Given the description of an element on the screen output the (x, y) to click on. 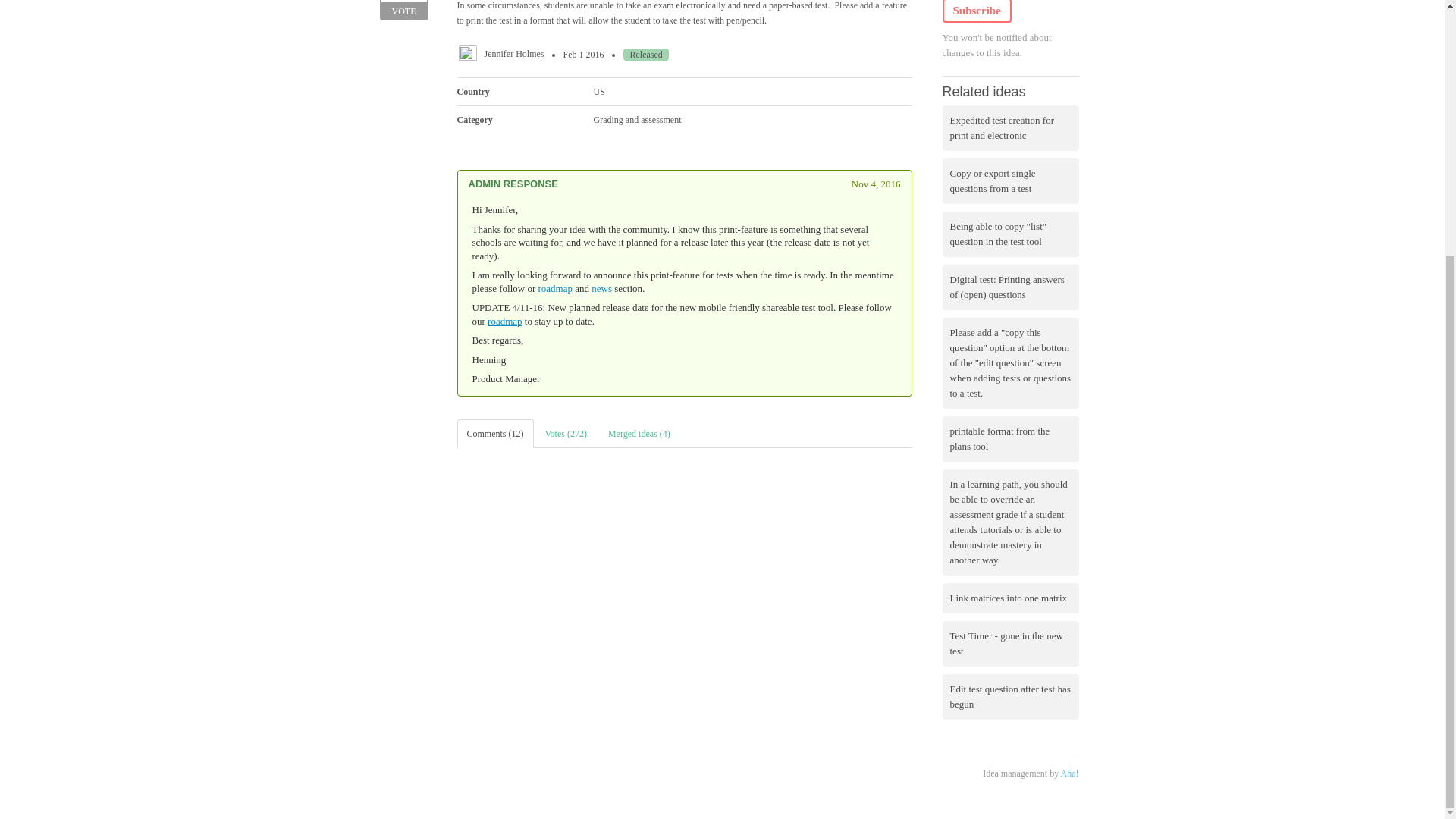
Released (645, 54)
Subscribe (976, 11)
Expedited test creation for print and electronic (1010, 127)
roadmap (504, 320)
news (601, 288)
roadmap (403, 10)
Copy or export single questions from a test (555, 288)
